Given the description of an element on the screen output the (x, y) to click on. 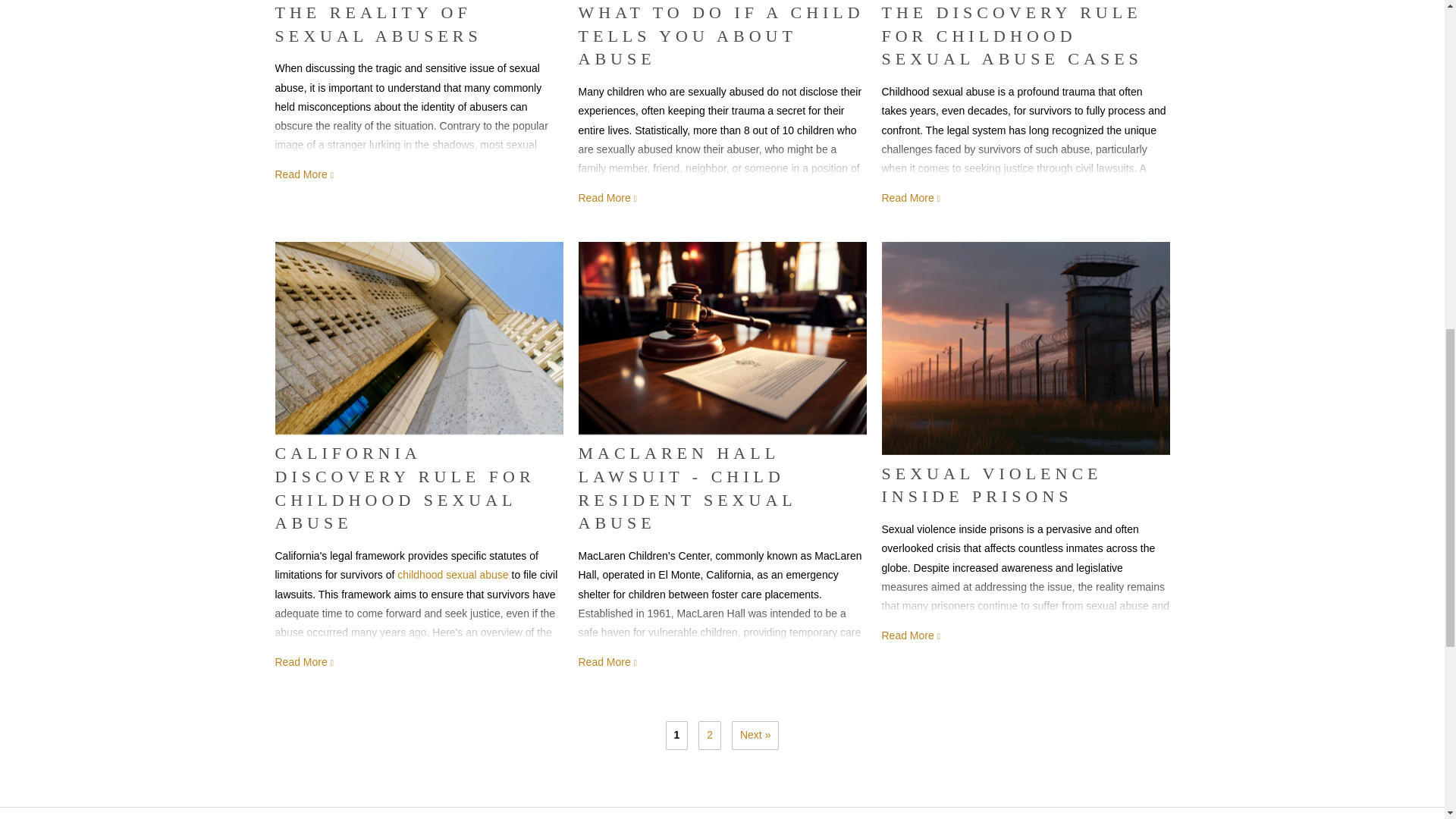
The Reality of Sexual Abusers (304, 174)
CHILDHOOD SEXUAL ABUSE (452, 574)
The Discovery Rule for Childhood Sexual Abuse Cases (911, 197)
What to Do If a Child Tells You About Abuse (608, 197)
California Discovery Rule for Childhood Sexual Abuse (418, 337)
